Given the description of an element on the screen output the (x, y) to click on. 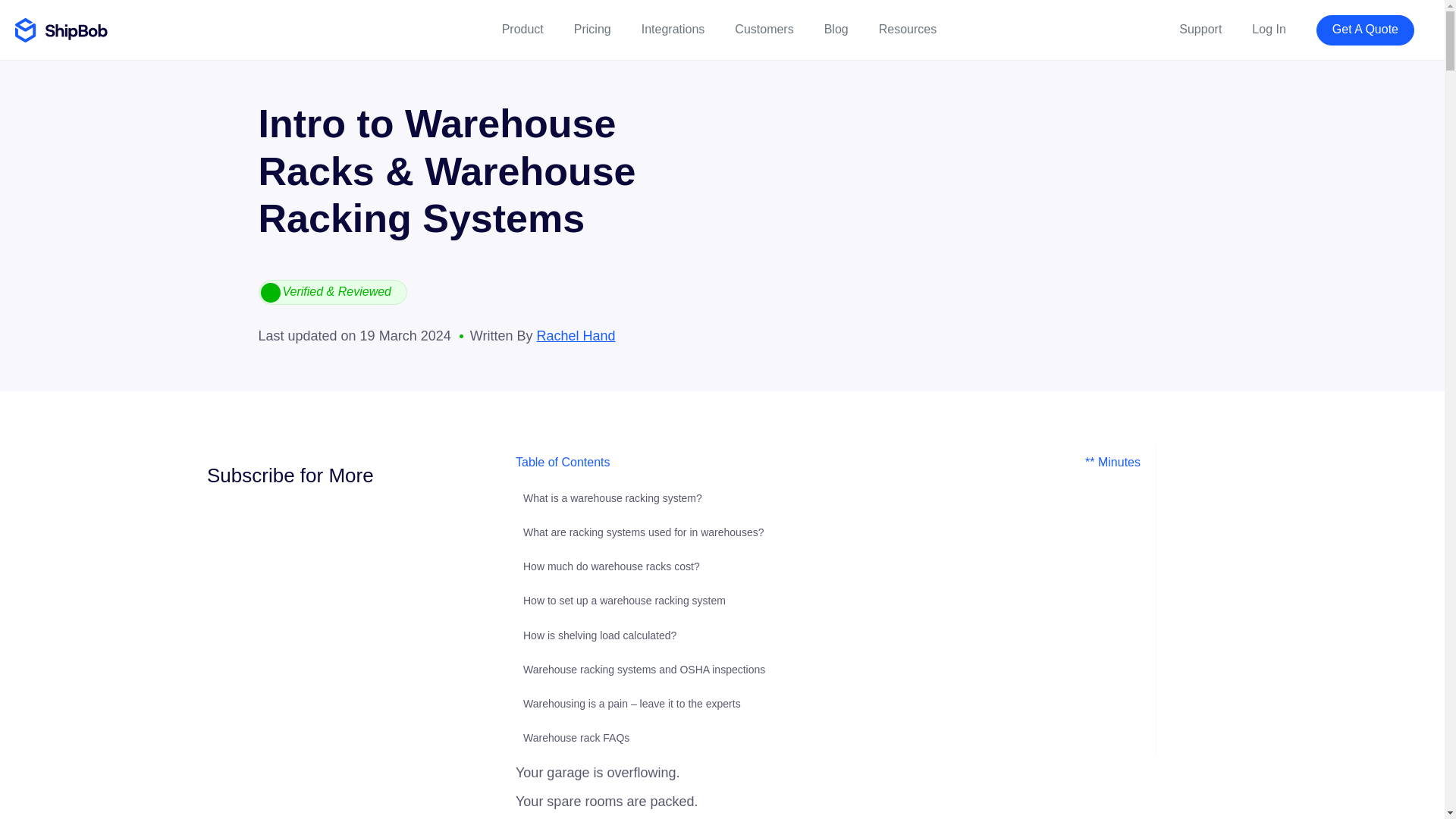
How to set up a warehouse racking system (623, 600)
Warehouse rack FAQs (575, 737)
How much do warehouse racks cost? (611, 566)
Get A Quote (1364, 30)
Posts by Rachel Hand (574, 335)
Blog (836, 29)
Log In (1268, 29)
What is a warehouse racking system? (611, 498)
Customers (764, 29)
How is shelving load calculated? (599, 635)
